Given the description of an element on the screen output the (x, y) to click on. 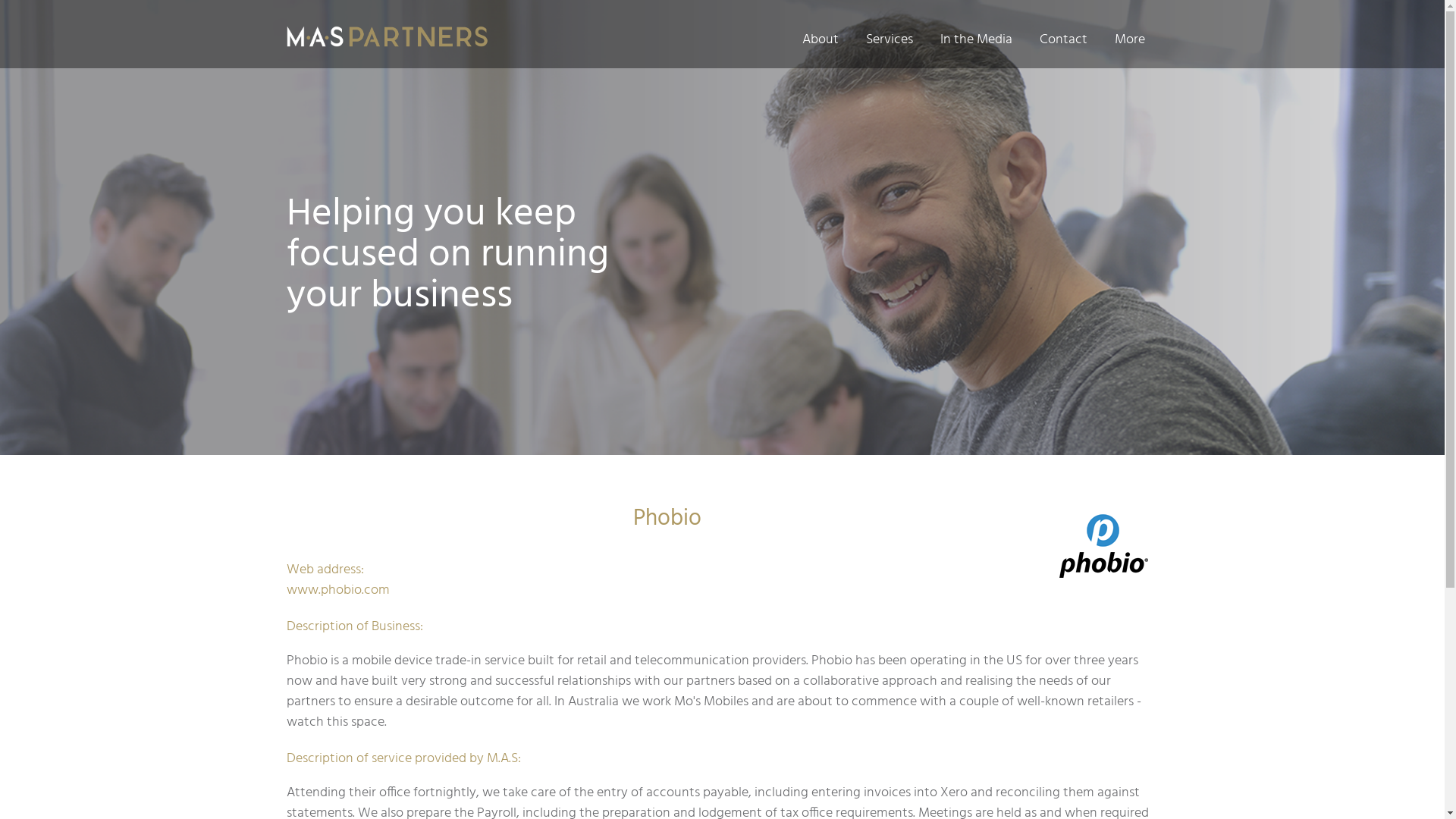
www.phobio.com Element type: text (337, 590)
Phobio Element type: hover (1102, 543)
In the Media Element type: text (976, 39)
Services Element type: text (889, 39)
Contact Element type: text (1062, 39)
About Element type: text (820, 39)
